Given the description of an element on the screen output the (x, y) to click on. 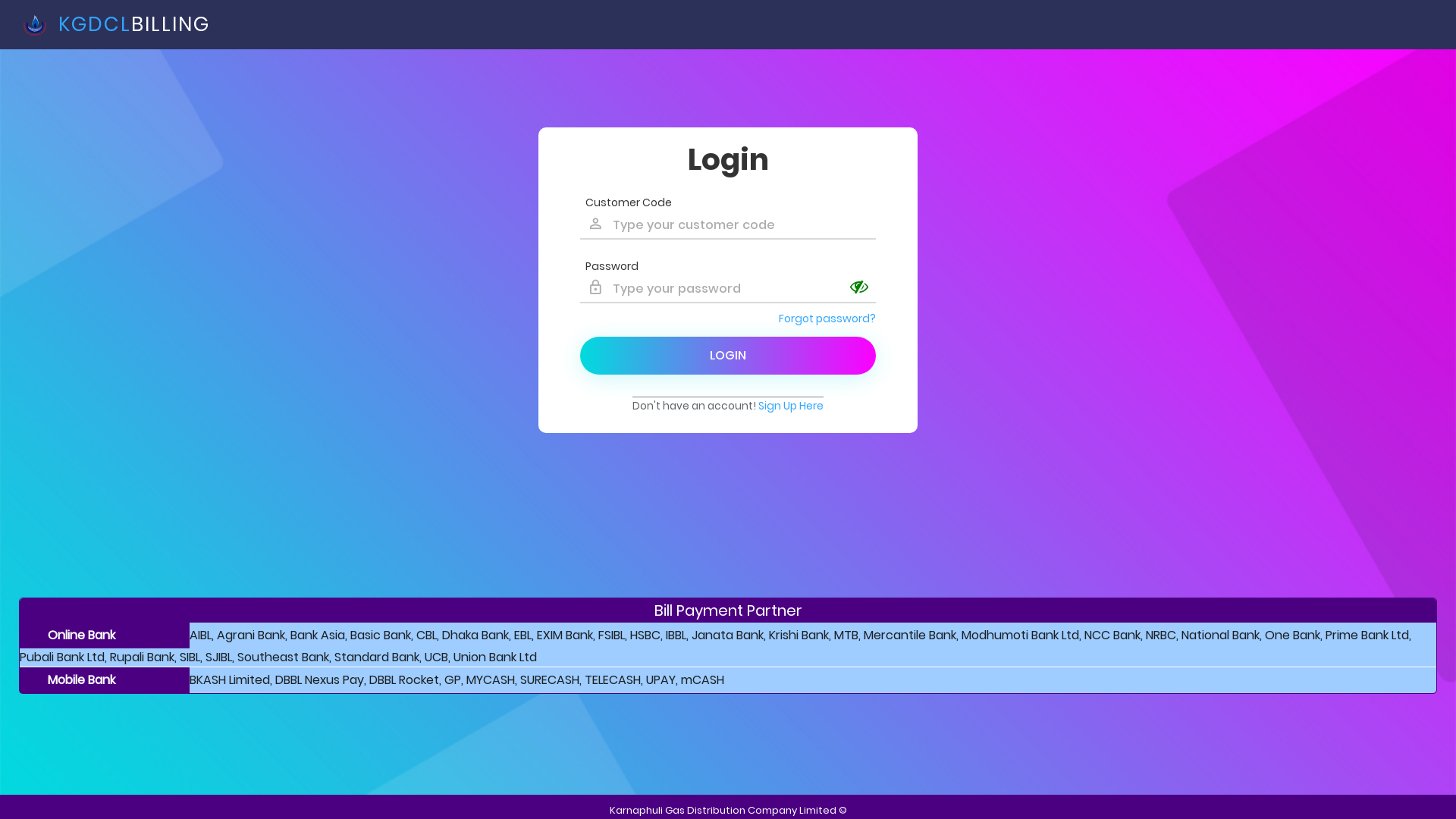
Sign Up Here Element type: text (790, 405)
 KGDCLBILLING Element type: text (116, 24)
Forgot password? Element type: text (826, 318)
LOGIN Element type: text (727, 355)
